Given the description of an element on the screen output the (x, y) to click on. 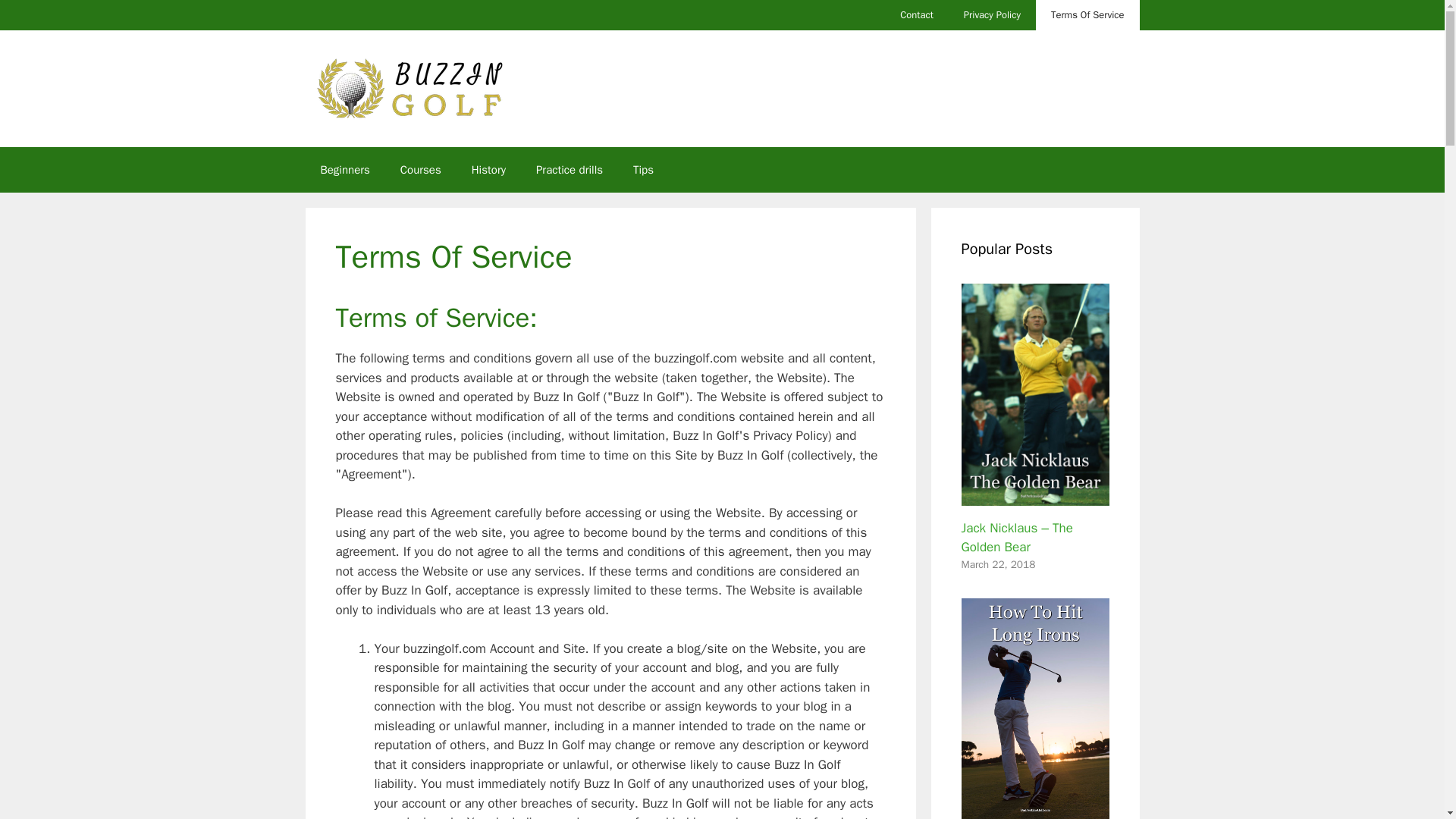
Practice drills (569, 169)
Tips (642, 169)
March 22, 2018 (997, 563)
Our terms of service (1087, 15)
Courses (421, 169)
Terms Of Service (1087, 15)
Our privacy policy (992, 15)
Beginners (344, 169)
History (489, 169)
2:11 pm (997, 563)
